Given the description of an element on the screen output the (x, y) to click on. 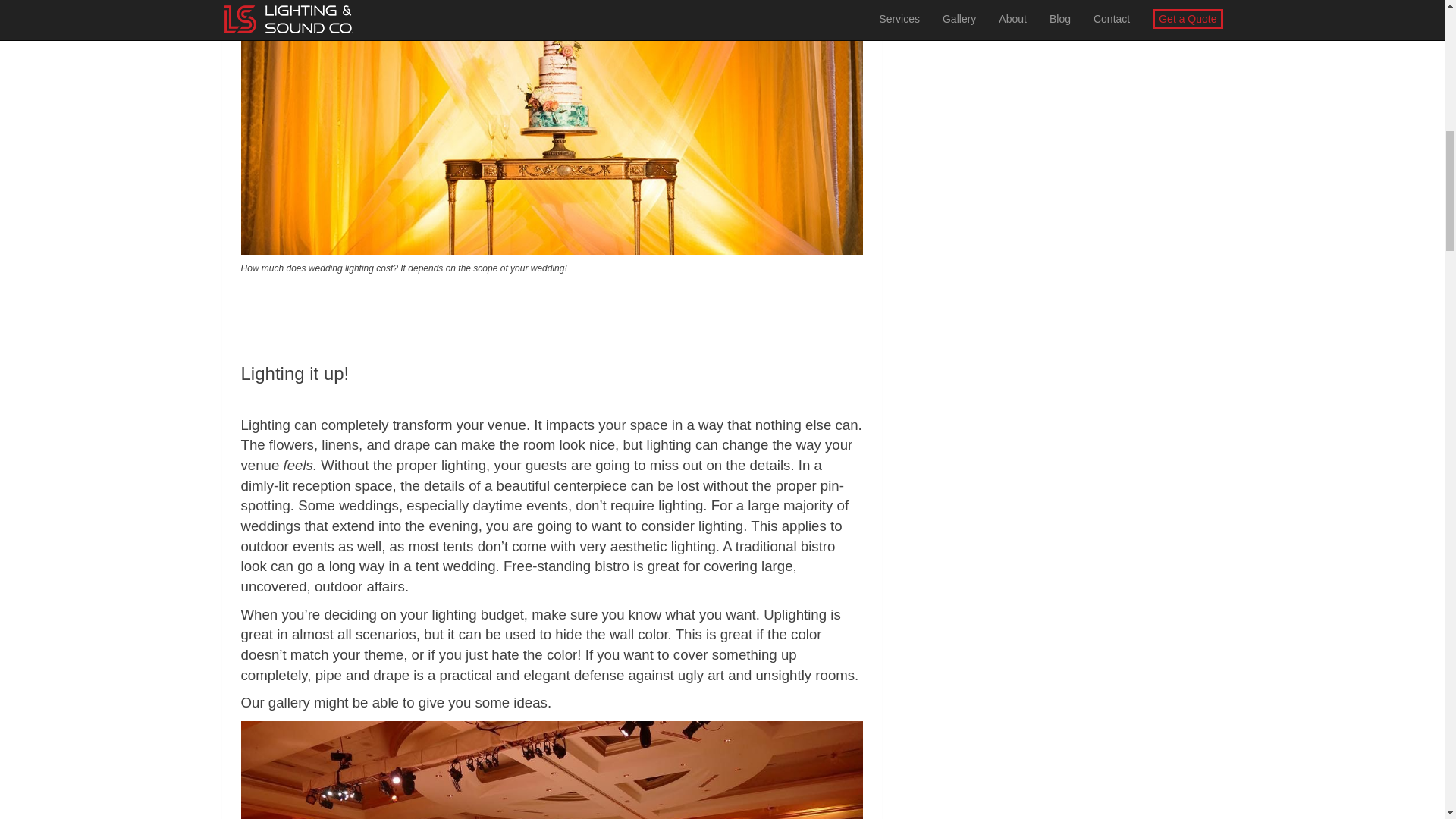
Our gallery might be able to give you some ideas. (396, 703)
